Given the description of an element on the screen output the (x, y) to click on. 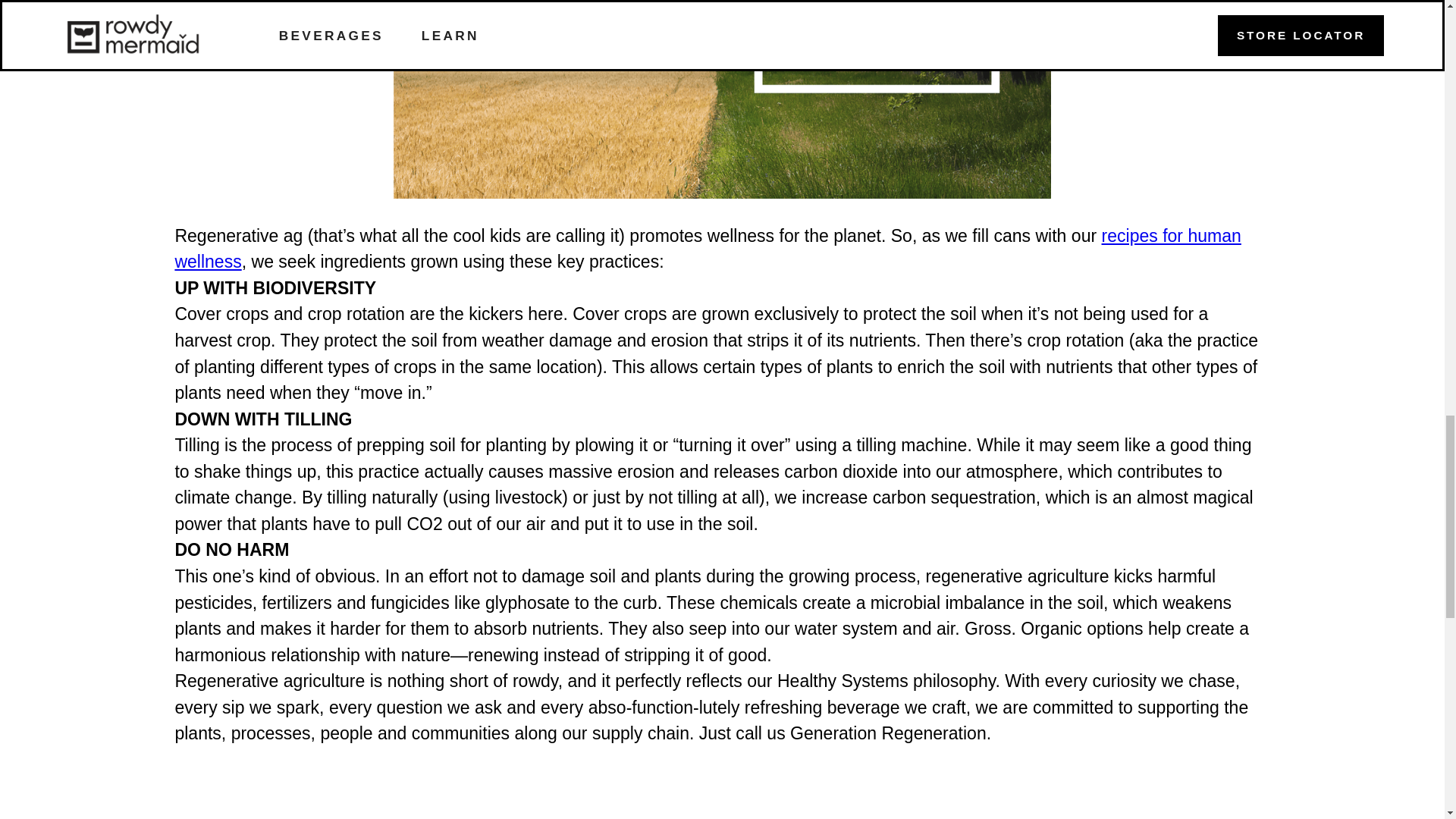
recipes for human wellness (707, 248)
